Given the description of an element on the screen output the (x, y) to click on. 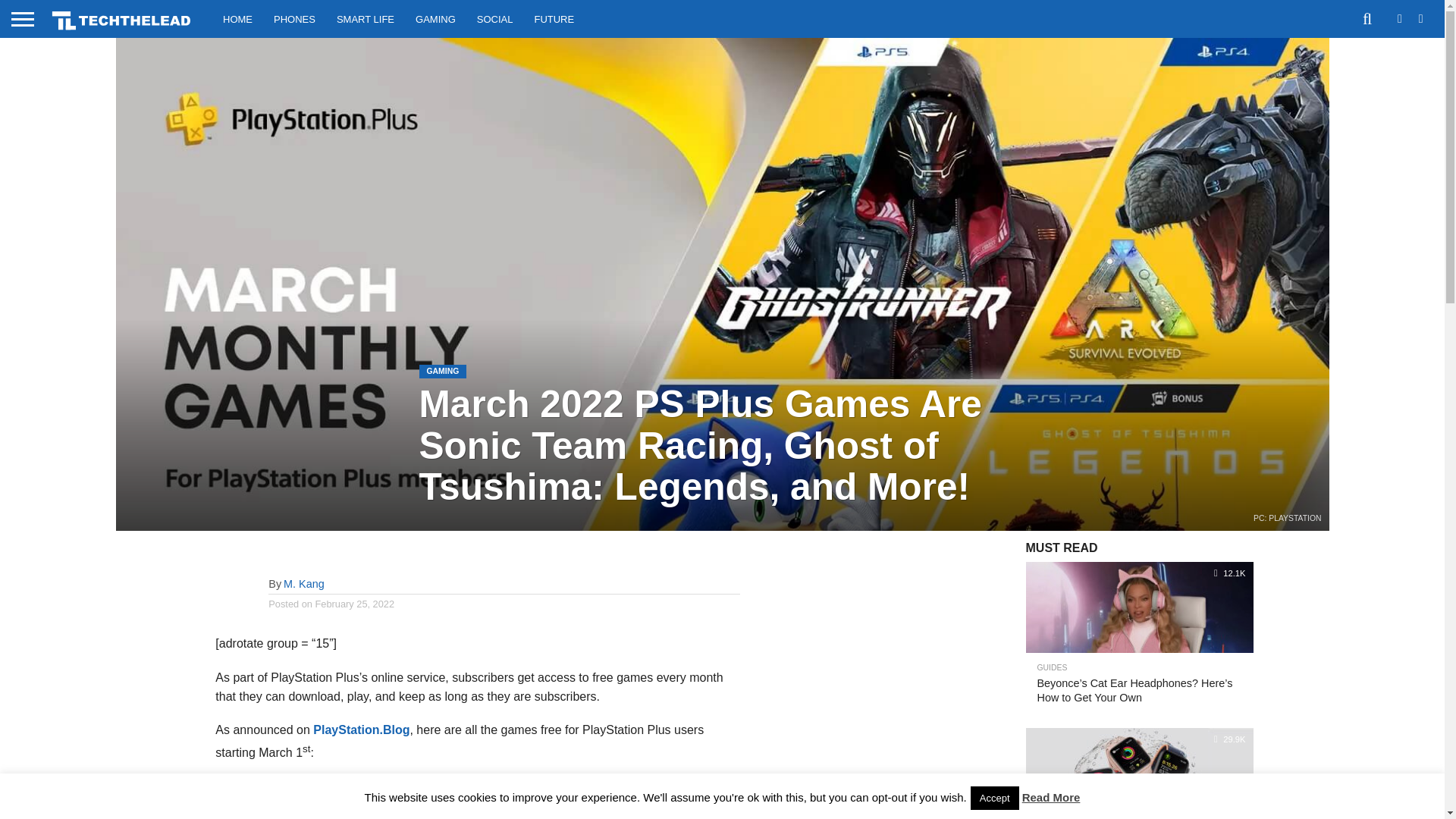
FUTURE (553, 18)
GAMING (434, 18)
Posts by M. Kang (303, 583)
PHONES (294, 18)
SMART LIFE (365, 18)
SOCIAL (494, 18)
HOME (237, 18)
